Given the description of an element on the screen output the (x, y) to click on. 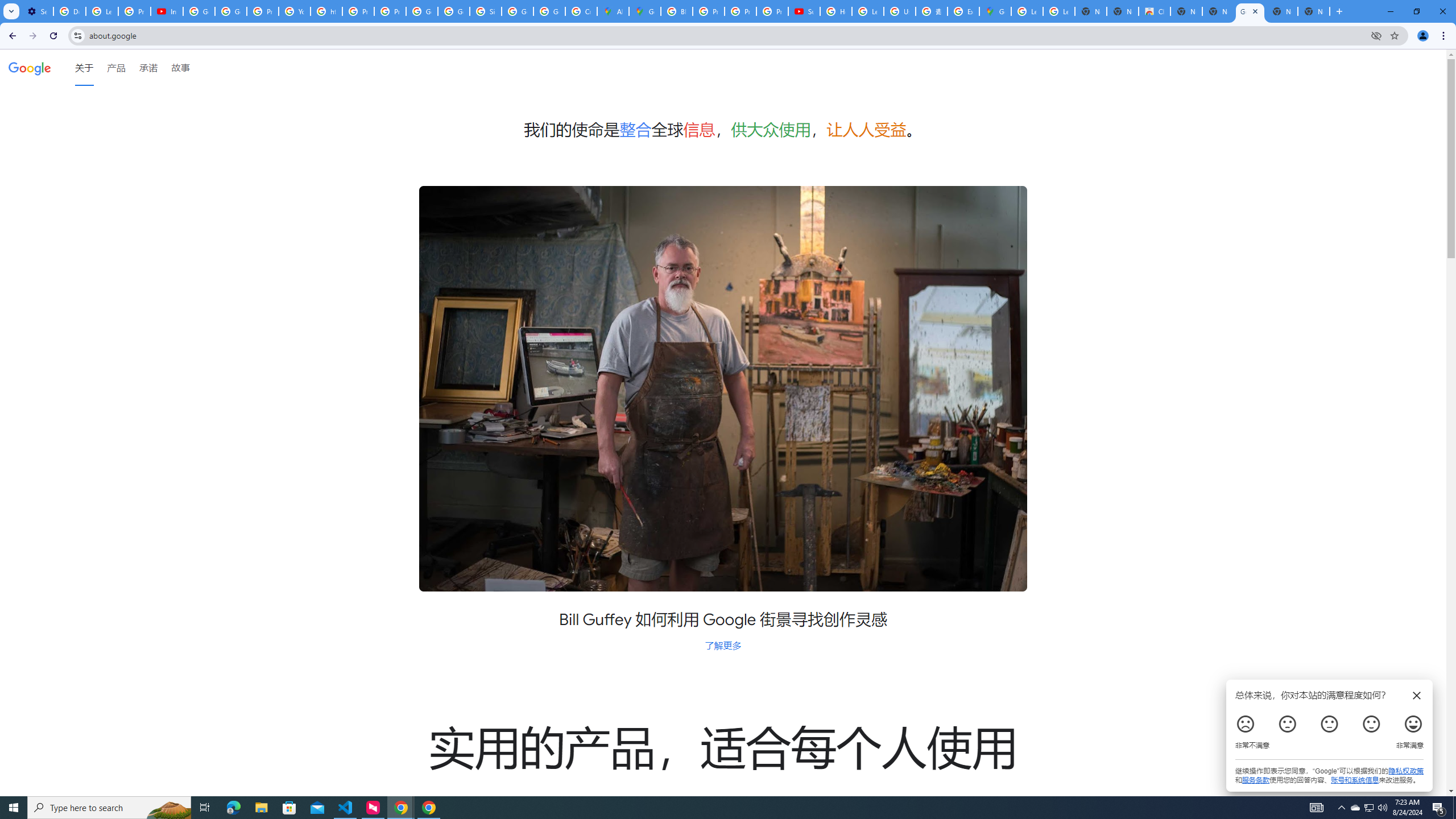
Privacy Help Center - Policies Help (262, 11)
Chrome Web Store (1154, 11)
YouTube (294, 11)
How Chrome protects your passwords - Google Chrome Help (836, 11)
